Given the description of an element on the screen output the (x, y) to click on. 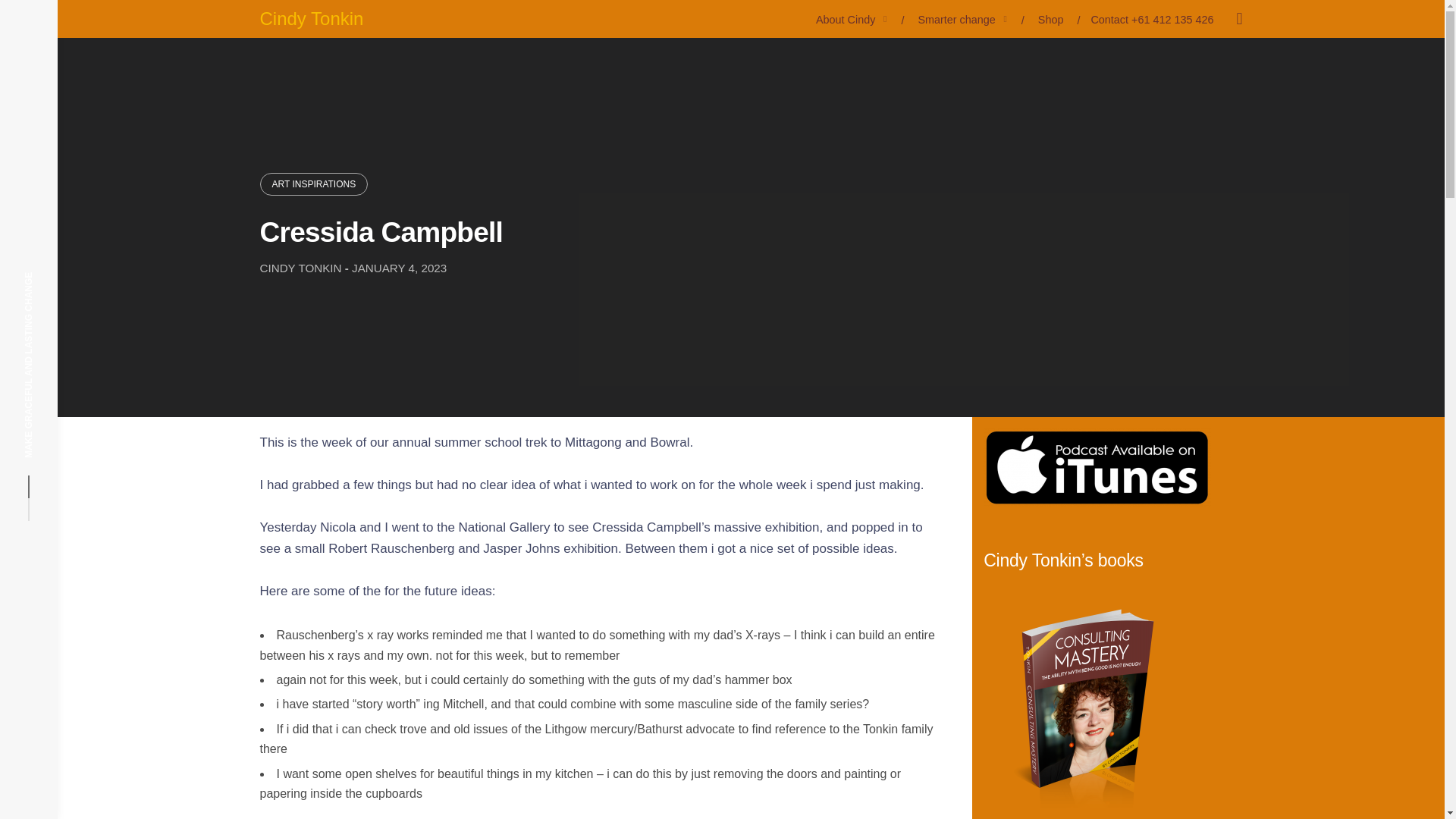
Shop (1051, 19)
About Cindy (845, 19)
Smarter change (956, 19)
Cindy Tonkin (310, 18)
